Given the description of an element on the screen output the (x, y) to click on. 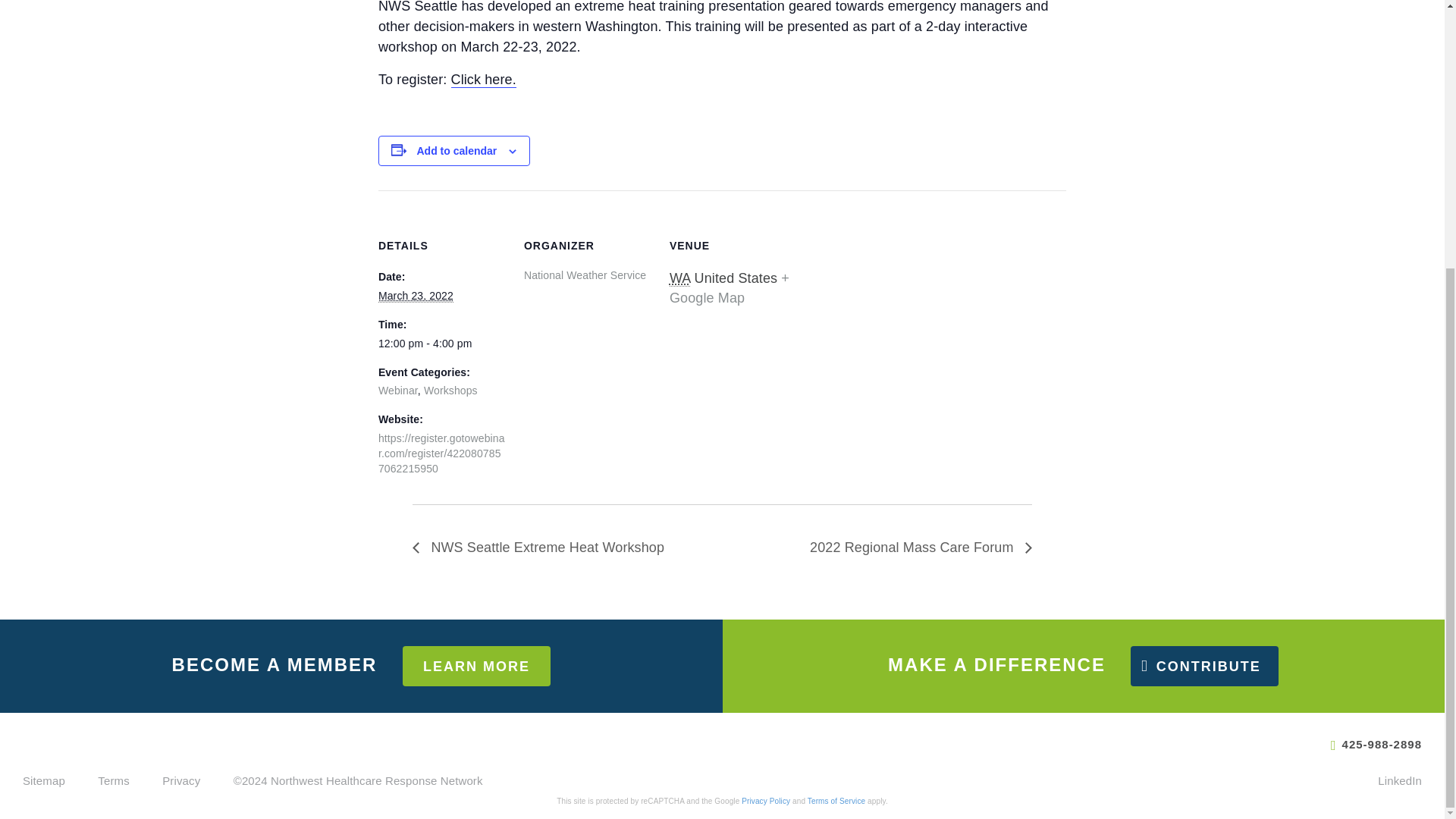
National Weather Service (585, 275)
2022-03-23 (441, 344)
Workshops (450, 390)
Google maps iframe displaying the address to  (895, 294)
National Weather Service (585, 275)
Click here. (483, 79)
2022-03-23 (415, 295)
Click to view a Google Map (729, 288)
Washington (679, 278)
Webinar (397, 390)
Add to calendar (456, 150)
